Given the description of an element on the screen output the (x, y) to click on. 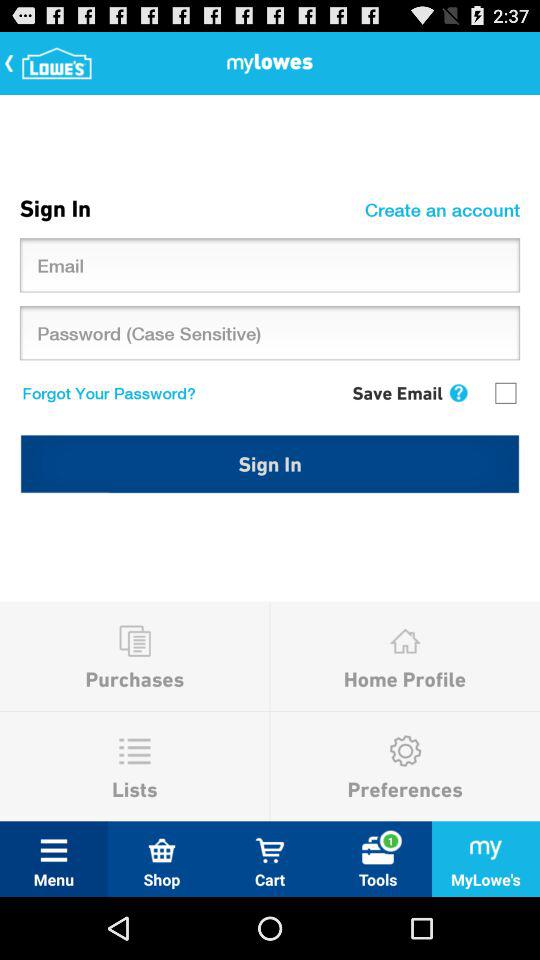
tap the item next to save email item (458, 392)
